Given the description of an element on the screen output the (x, y) to click on. 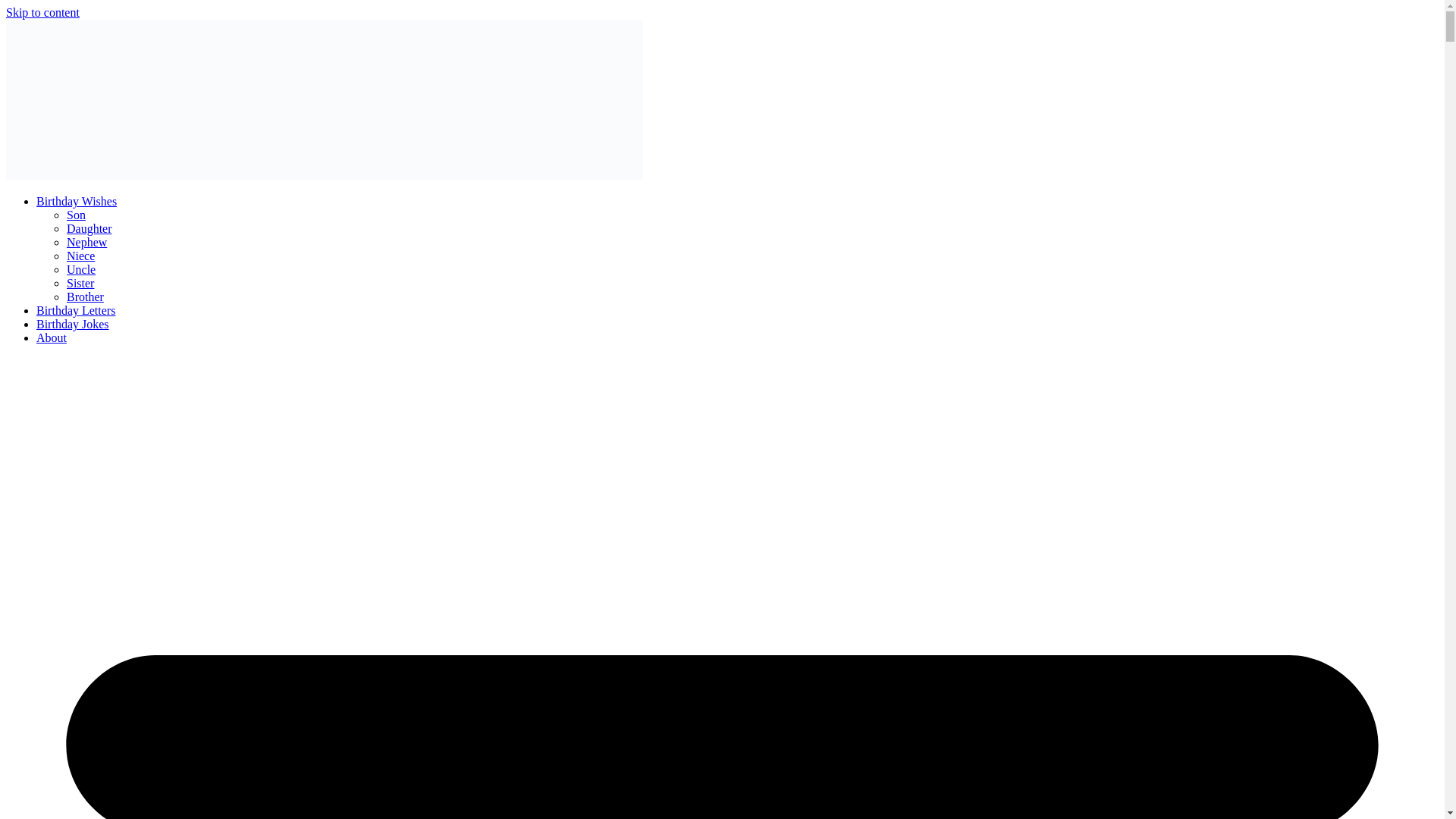
Uncle (81, 269)
Birthday Wishes (76, 201)
Niece (80, 255)
Sister (80, 282)
Daughter (89, 228)
Son (75, 214)
Birthday Letters (75, 309)
About (51, 337)
Nephew (86, 241)
Brother (84, 296)
